Given the description of an element on the screen output the (x, y) to click on. 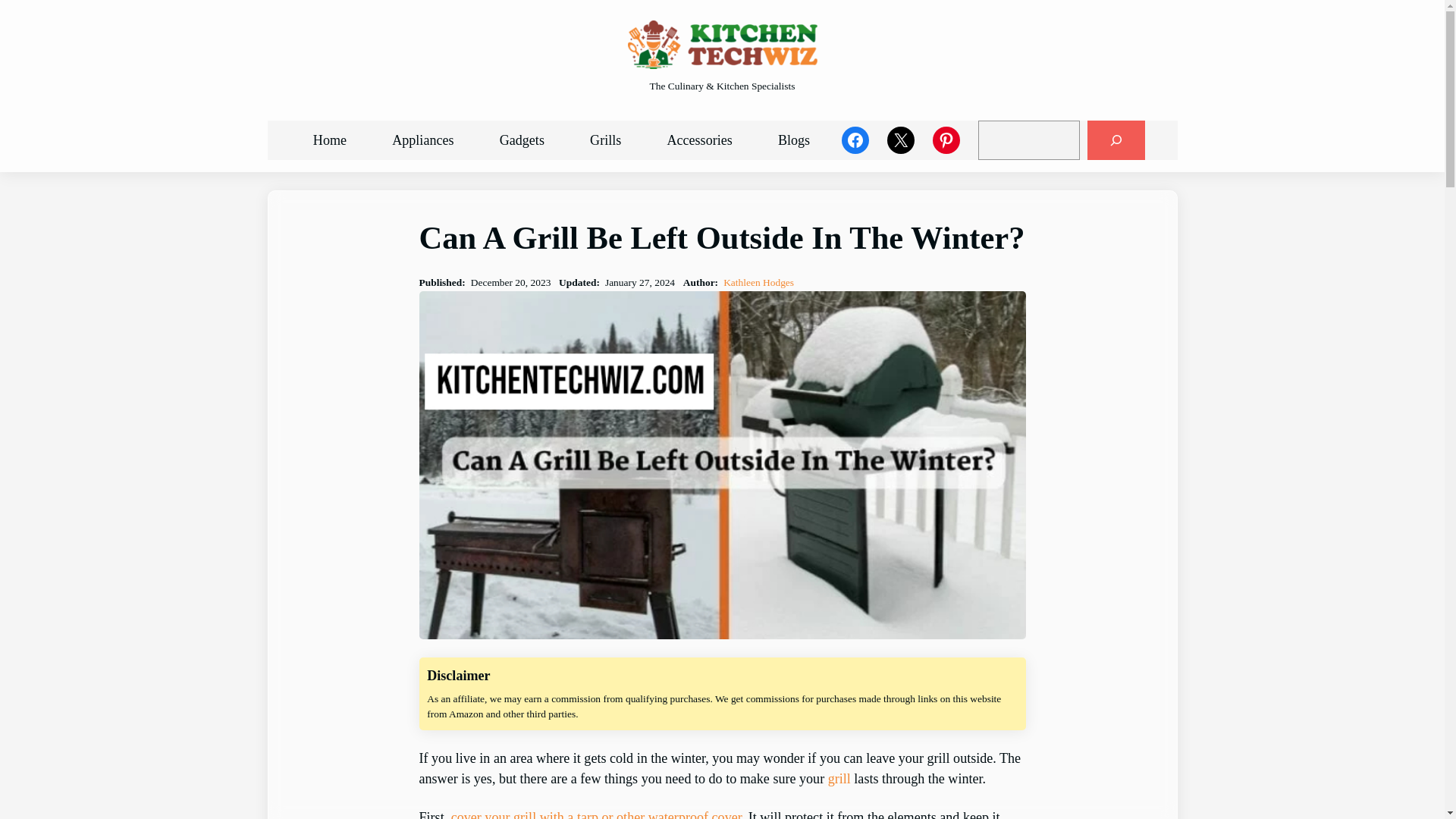
Kathleen Hodges (758, 282)
Grills (605, 140)
grill (839, 778)
Accessories (698, 140)
X (900, 139)
Appliances (422, 140)
Pinterest (946, 139)
Home (329, 140)
cover your grill with a tarp or other waterproof cover (596, 814)
Gadgets (521, 140)
